Given the description of an element on the screen output the (x, y) to click on. 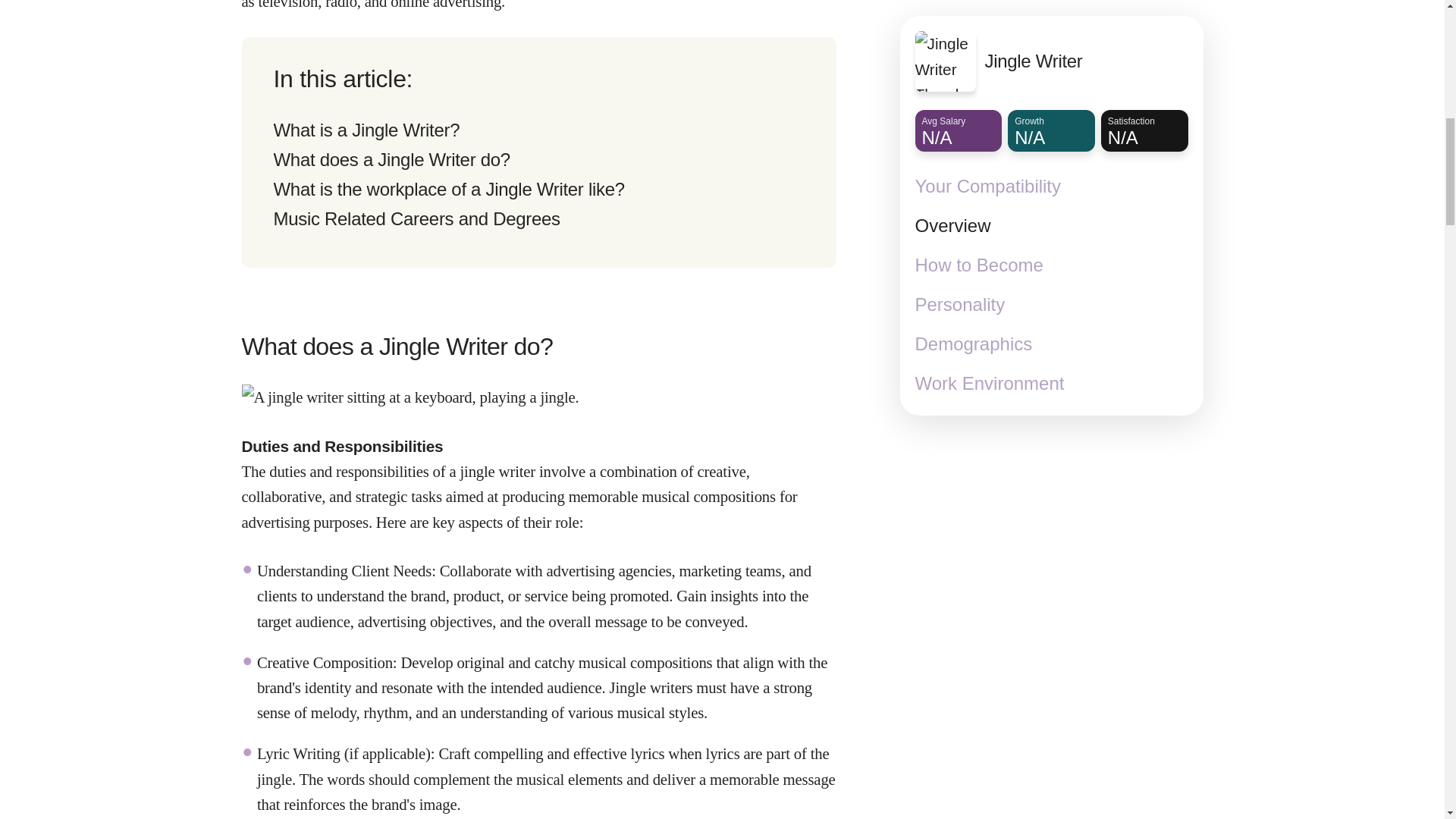
What is a Jingle Writer? (366, 129)
Music Related Careers and Degrees (416, 218)
What is the workplace of a Jingle Writer like? (448, 189)
What does a Jingle Writer do? (391, 159)
